Given the description of an element on the screen output the (x, y) to click on. 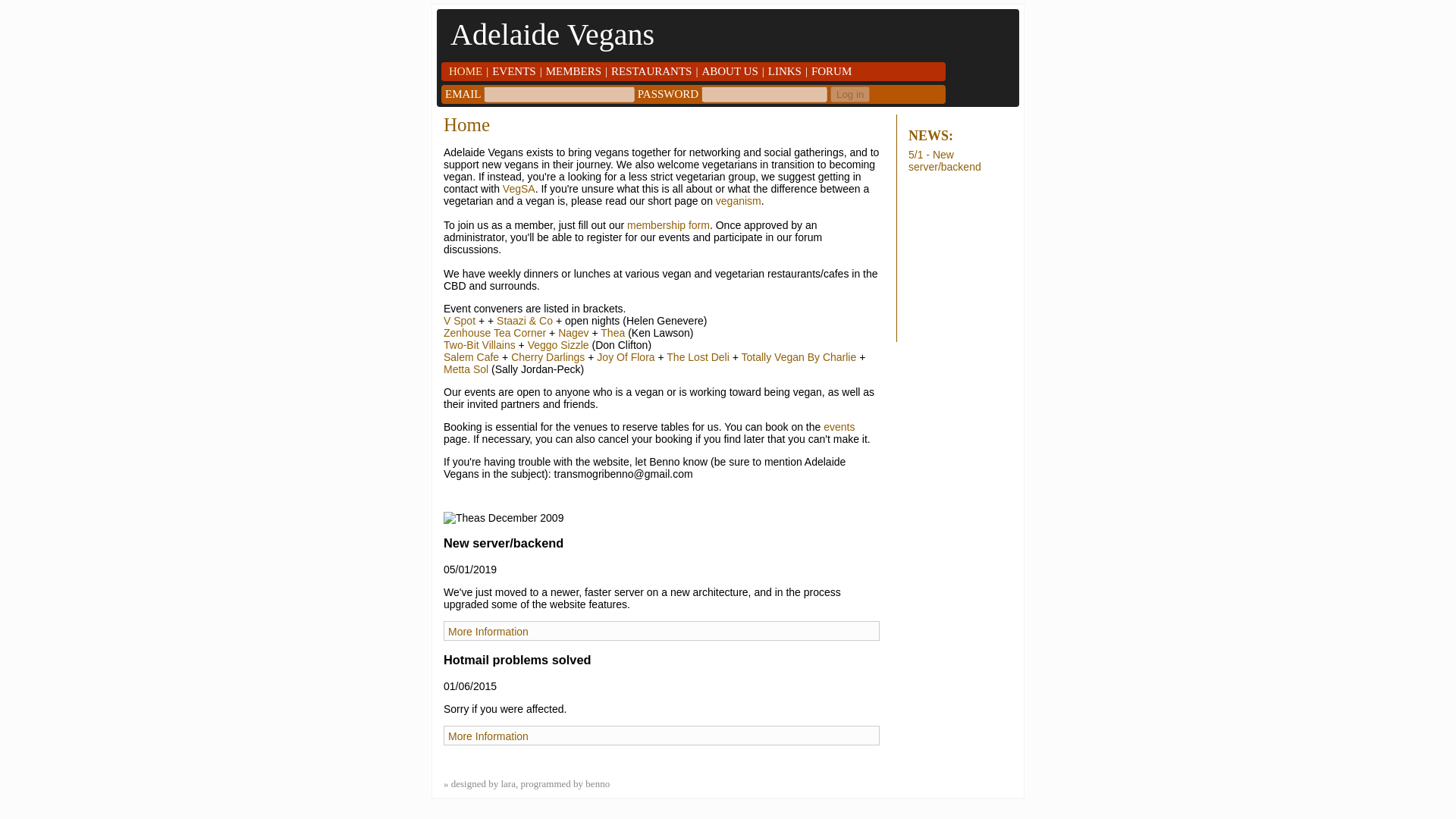
FORUM (830, 71)
EVENTS (513, 71)
V Spot (460, 320)
More Information (488, 631)
membership form (668, 224)
MEMBERS (573, 71)
Thea (611, 332)
VegSA (518, 188)
Cherry Darlings (548, 357)
events (839, 426)
